Given the description of an element on the screen output the (x, y) to click on. 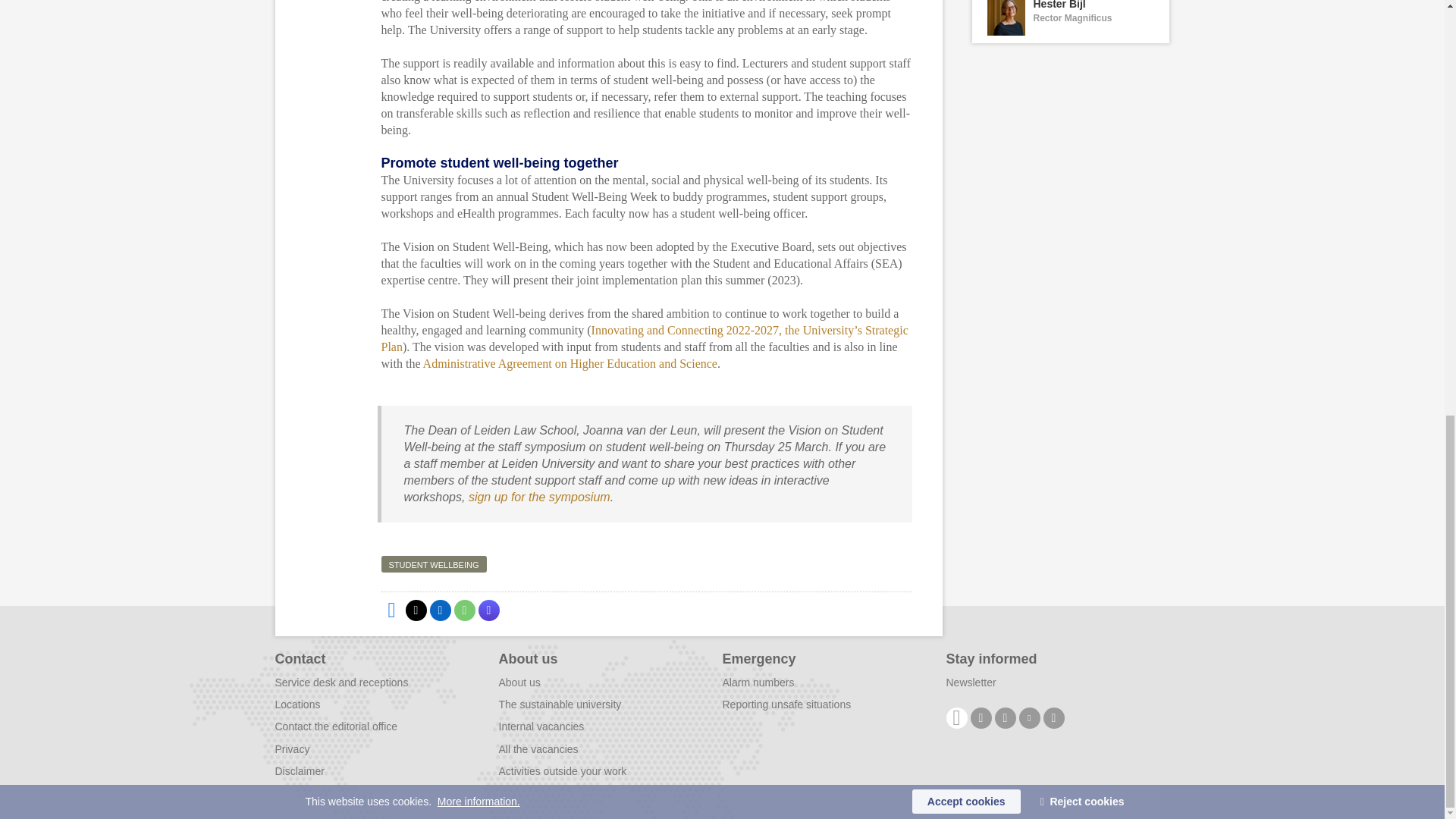
sign up for the symposium (539, 496)
Share by Mastodon (488, 609)
Service desk and receptions (341, 682)
Administrative Agreement on Higher Education and Science (570, 363)
Share on LinkedIn (439, 609)
Share on Facebook (390, 609)
Share by WhatsApp (463, 609)
Share on X (415, 609)
STUDENT WELLBEING (1070, 21)
